Given the description of an element on the screen output the (x, y) to click on. 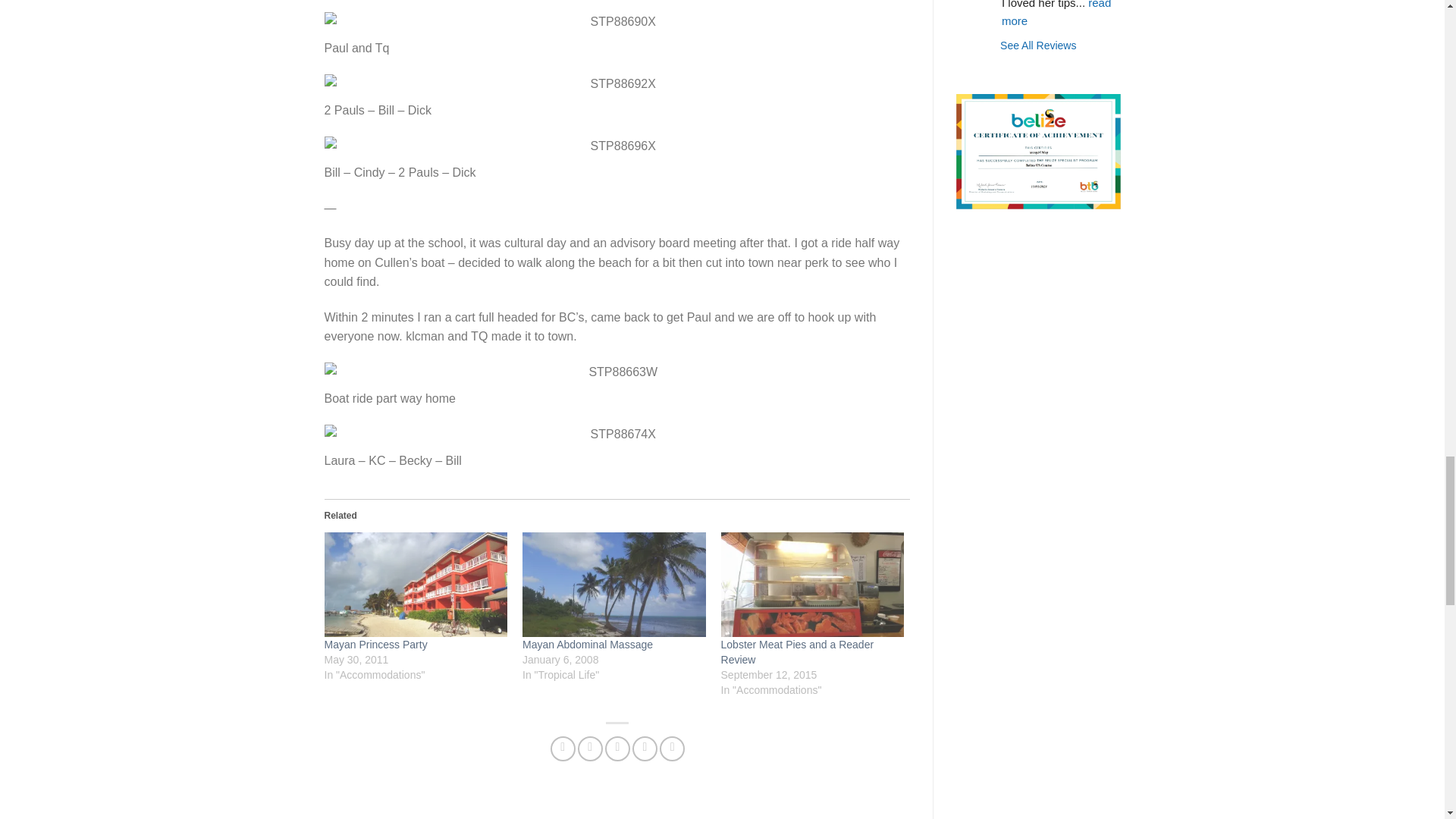
Email to a Friend (617, 748)
Pin on Pinterest (644, 748)
Share on Facebook (562, 748)
Mayan Abdominal Massage (587, 644)
Mayan Princess Party (416, 584)
Mayan Abdominal Massage (614, 584)
Mayan Princess Party (376, 644)
Lobster Meat Pies and a Reader Review (797, 651)
Share on LinkedIn (671, 748)
Share on Twitter (590, 748)
Lobster Meat Pies and a Reader Review (812, 584)
